Given the description of an element on the screen output the (x, y) to click on. 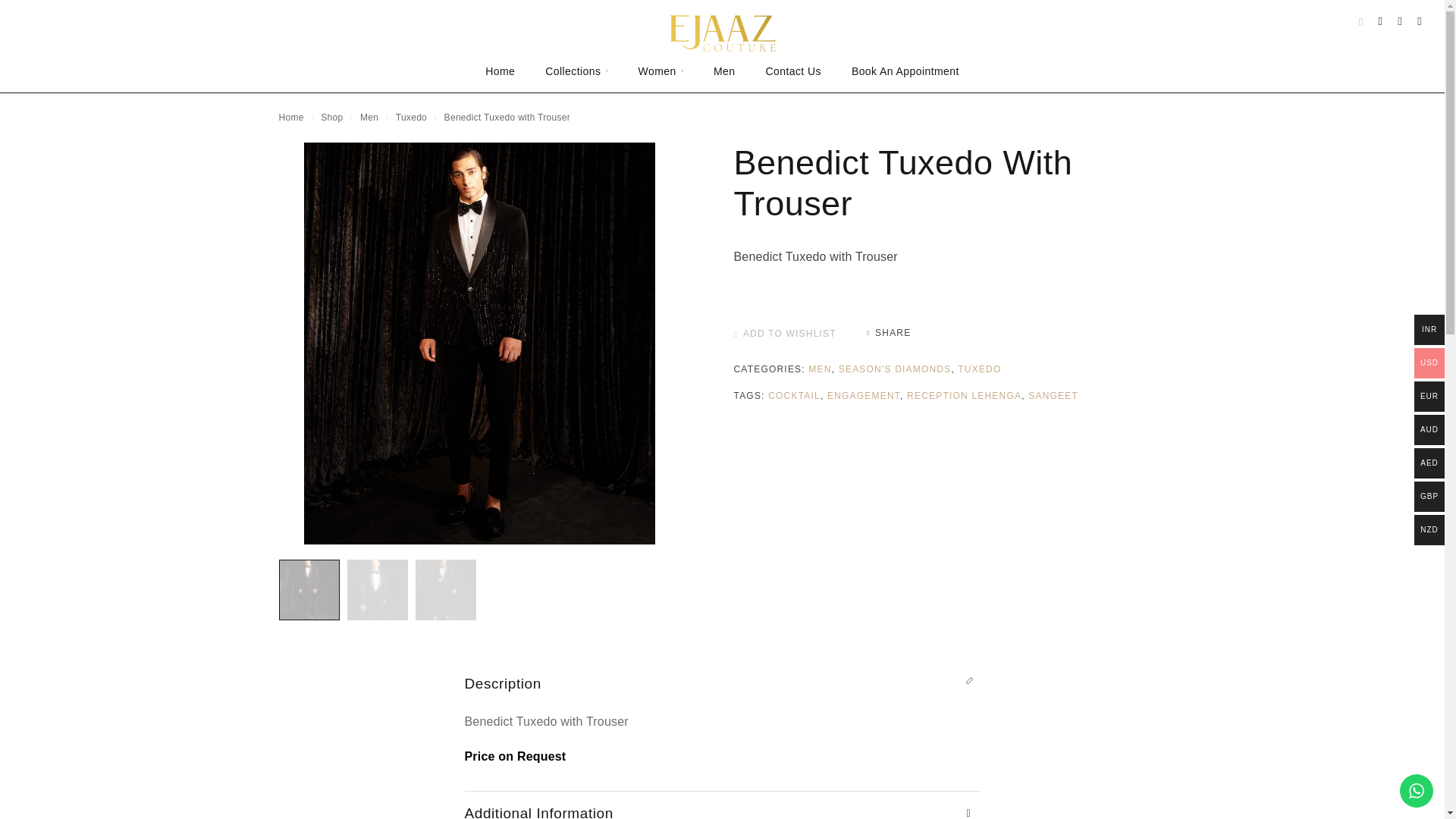
Login (1380, 21)
